Given the description of an element on the screen output the (x, y) to click on. 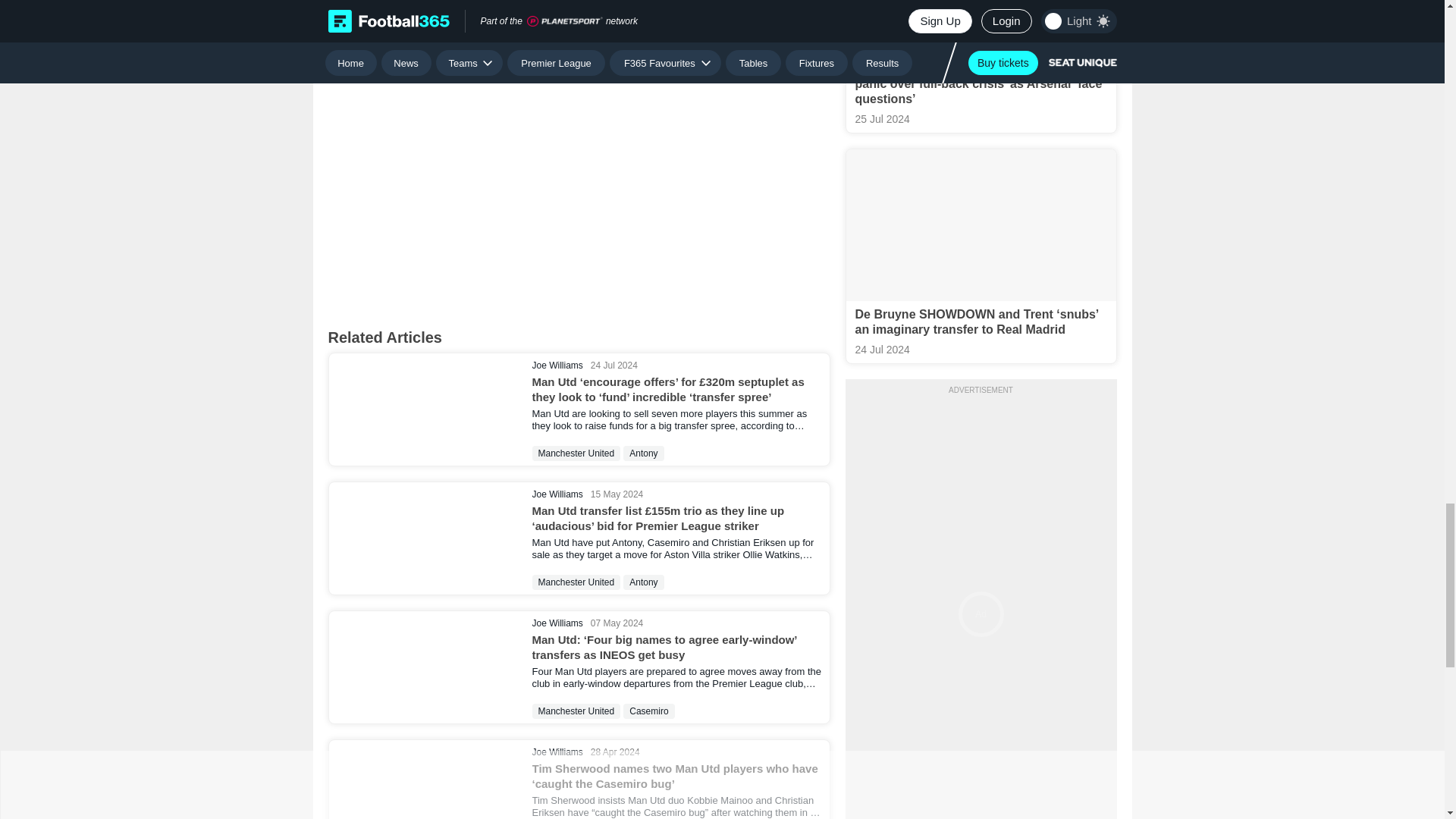
3rd party ad content (578, 16)
Vuukle Comments Widget (578, 190)
